Given the description of an element on the screen output the (x, y) to click on. 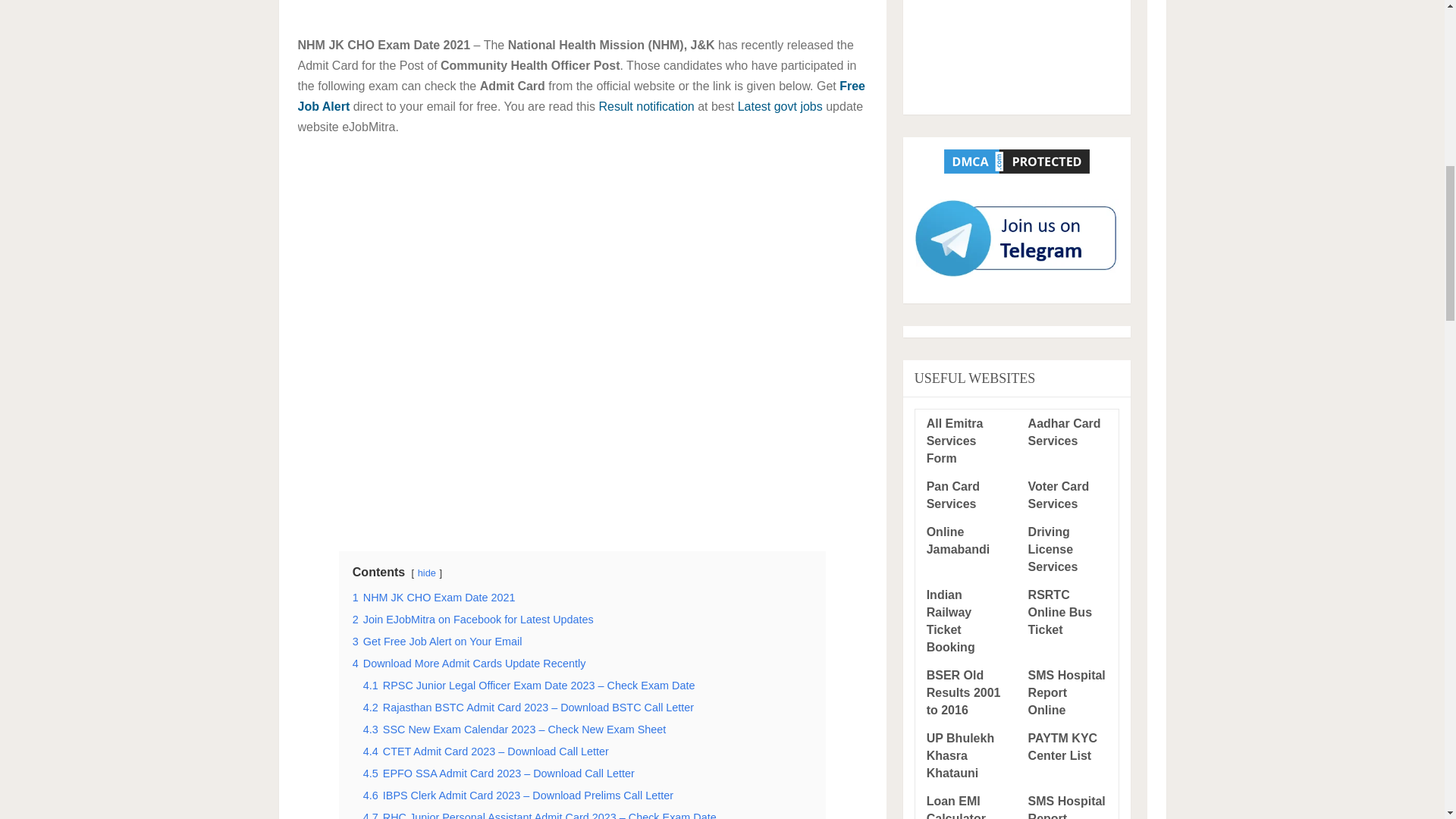
Advertisement (1016, 51)
1 NHM JK CHO Exam Date 2021 (433, 597)
Free Job Alert (580, 96)
Latest govt jobs (780, 106)
4 Download More Admit Cards Update Recently (469, 663)
hide (426, 572)
Result notification (646, 106)
2 Join EJobMitra on Facebook for Latest Updates (473, 619)
Advertisement (581, 7)
3 Get Free Job Alert on Your Email (437, 641)
